Given the description of an element on the screen output the (x, y) to click on. 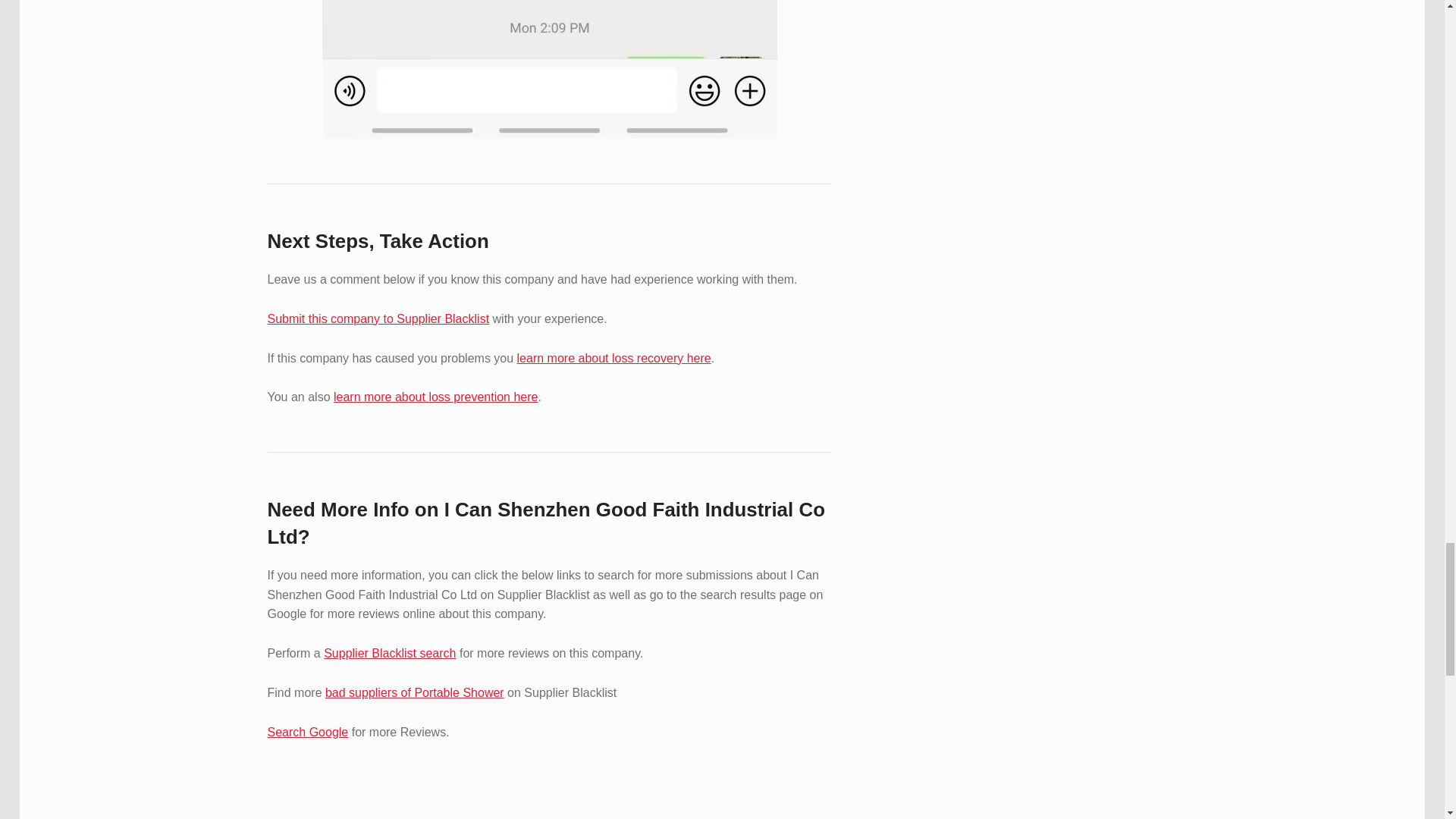
learn more about loss recovery here (613, 358)
Submit this company to Supplier Blacklist (377, 318)
Supplier Blacklist search (389, 653)
learn more about loss prevention here (435, 396)
